Given the description of an element on the screen output the (x, y) to click on. 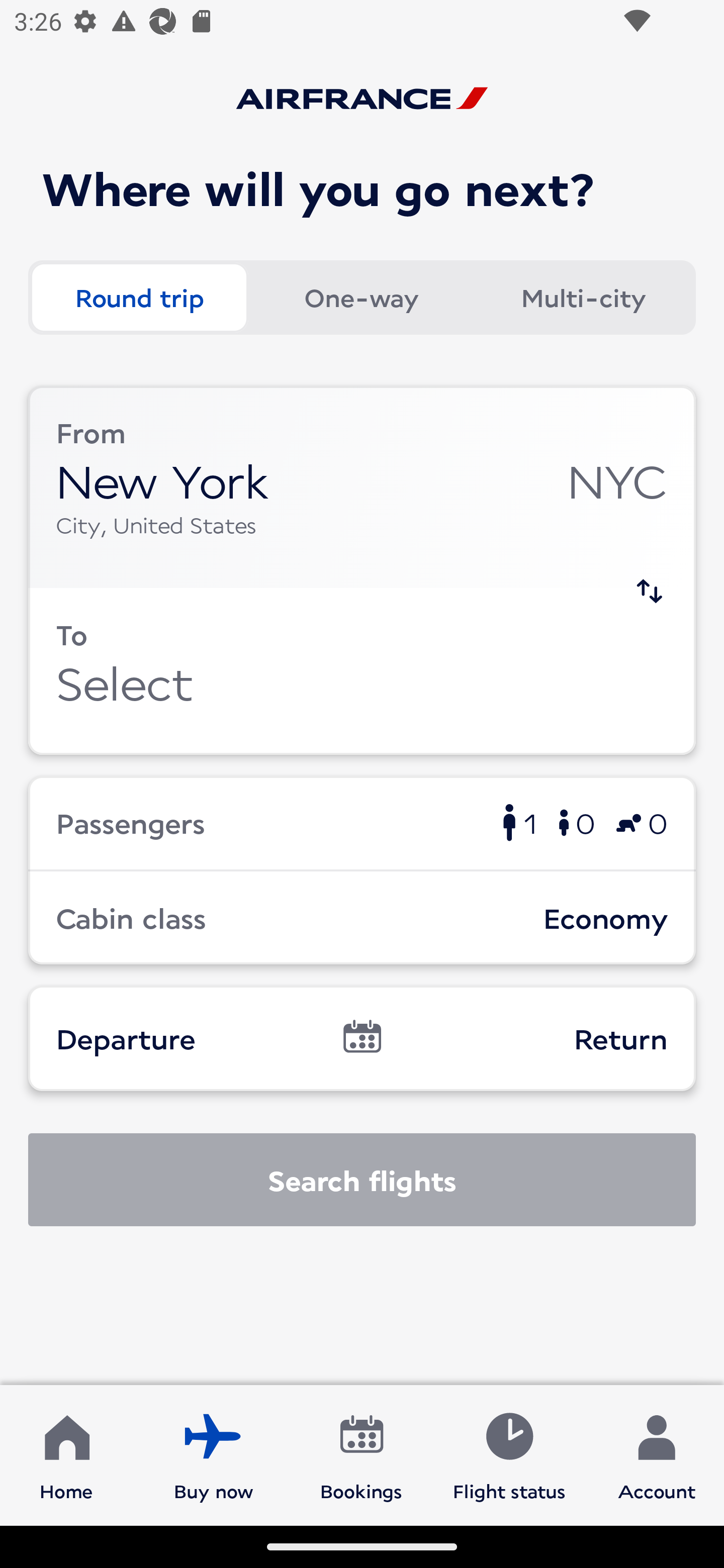
Round trip (139, 297)
One-way (361, 297)
Multi-city (583, 297)
From New York NYC City, United States (361, 486)
To Select (361, 671)
Passengers 1 0 0 (361, 822)
Cabin class Economy (361, 917)
Departure Return (361, 1038)
Search flights (361, 1179)
Home (66, 1454)
Bookings (361, 1454)
Flight status (509, 1454)
Account (657, 1454)
